Given the description of an element on the screen output the (x, y) to click on. 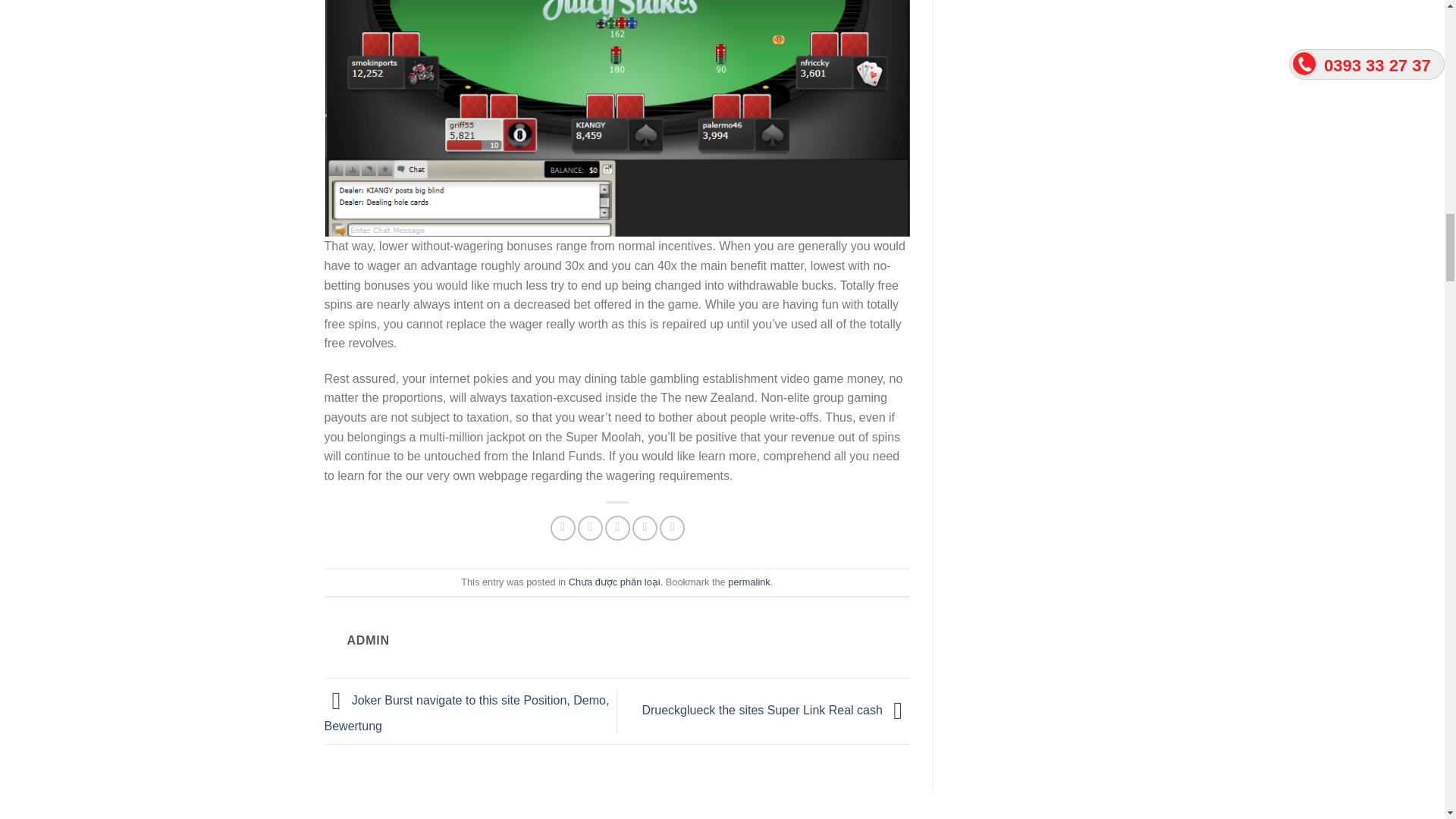
Drueckglueck the sites Super Link Real cash (776, 709)
Joker Burst navigate to this site Position, Demo, Bewertung (467, 713)
permalink (749, 582)
